Given the description of an element on the screen output the (x, y) to click on. 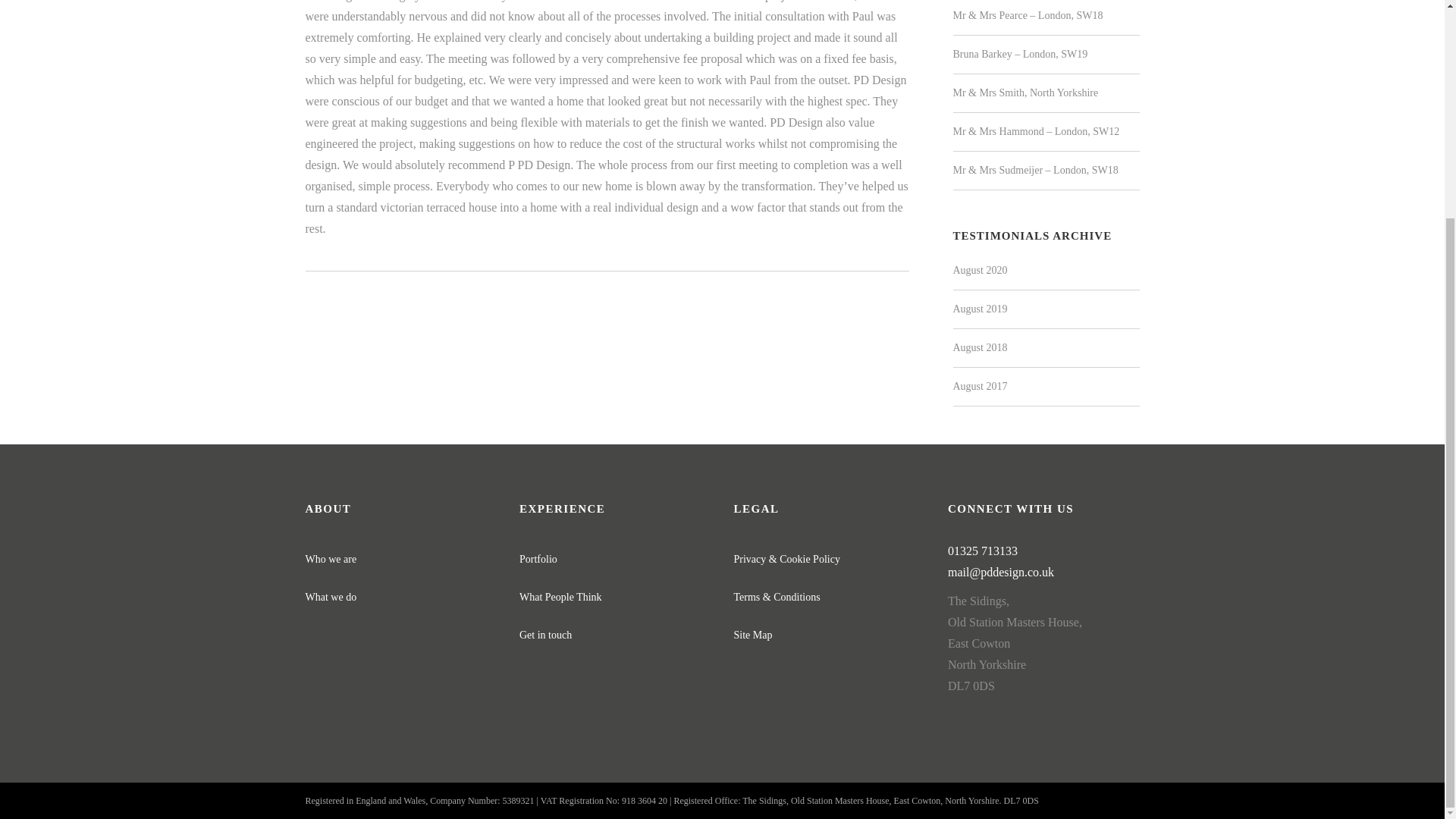
Portfolio (538, 559)
Page 3 (1043, 618)
What People Think (560, 596)
Who we are (330, 559)
August 2018 (979, 347)
What we do (330, 596)
August 2020 (979, 270)
August 2019 (979, 308)
August 2017 (979, 386)
Get in touch (545, 634)
